Given the description of an element on the screen output the (x, y) to click on. 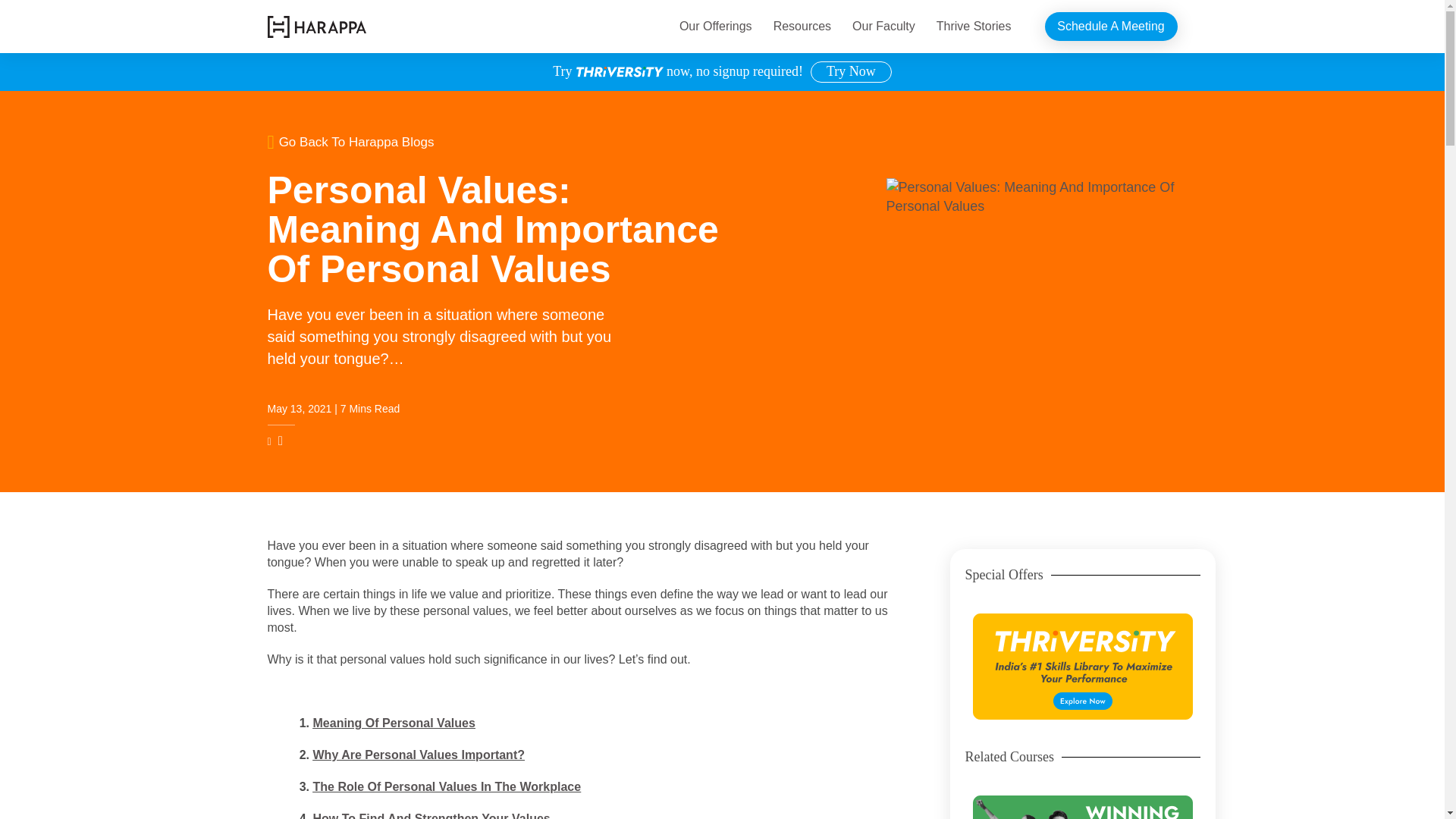
header-logo (315, 26)
Our Faculty (883, 26)
Thriversitybannersidenav (1082, 666)
Thrive Stories (974, 26)
Why Are Personal Values Important? (418, 754)
How To Find And Strengthen Your Values (431, 815)
Go Back To Harappa Blogs (494, 141)
Resources (801, 26)
Schedule A Meeting (1111, 26)
